Given the description of an element on the screen output the (x, y) to click on. 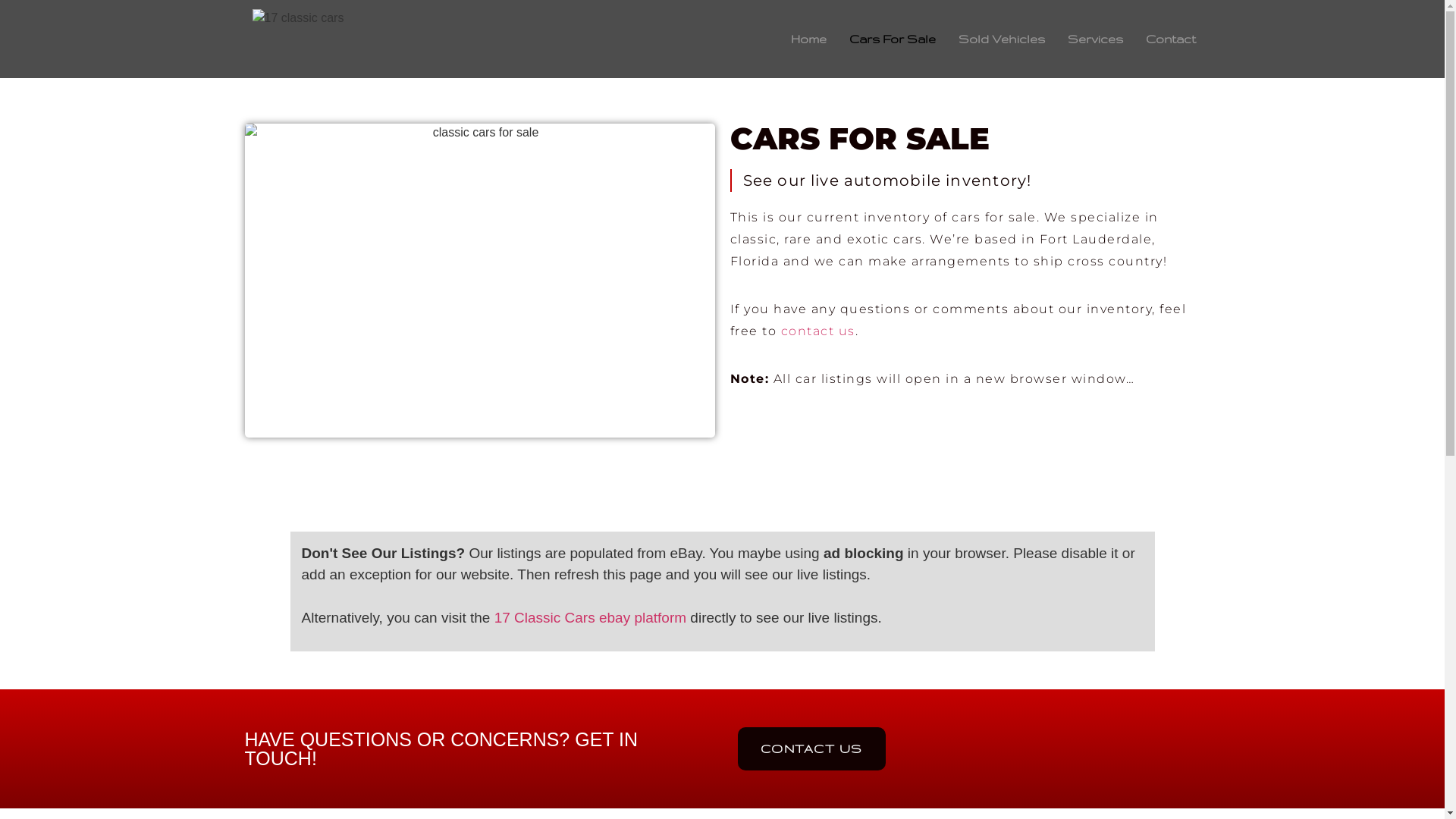
contact us Element type: text (818, 330)
Services Element type: text (1095, 39)
Sold Vehicles Element type: text (1001, 39)
17 Classic Cars ebay platform Element type: text (590, 617)
Home Element type: text (808, 39)
Cars For Sale Element type: text (892, 39)
Contact Element type: text (1170, 39)
CONTACT US Element type: text (810, 748)
